Given the description of an element on the screen output the (x, y) to click on. 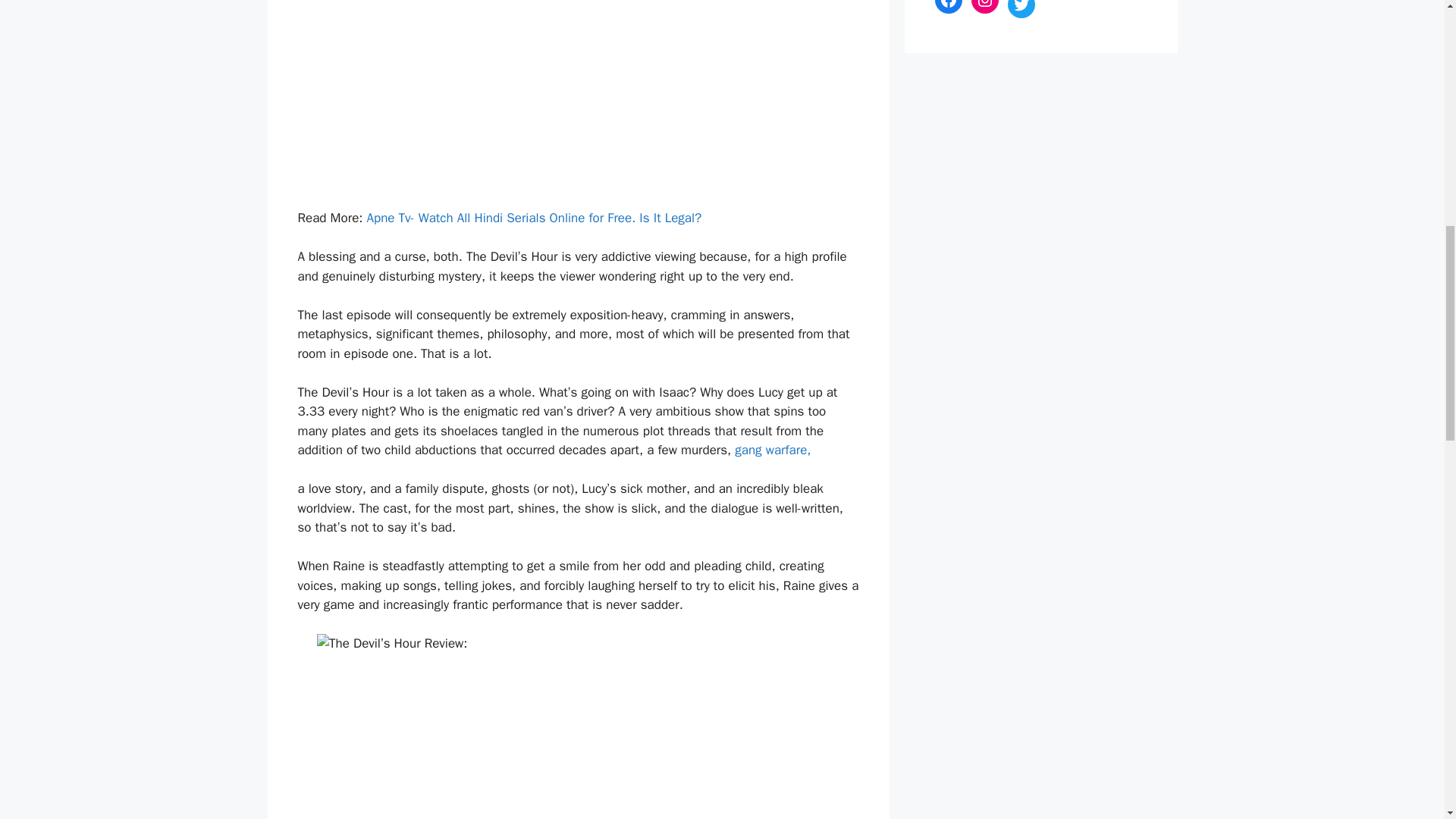
Facebook (947, 6)
gang warfare, (772, 449)
Instagram (984, 6)
Twitter (1020, 9)
